Given the description of an element on the screen output the (x, y) to click on. 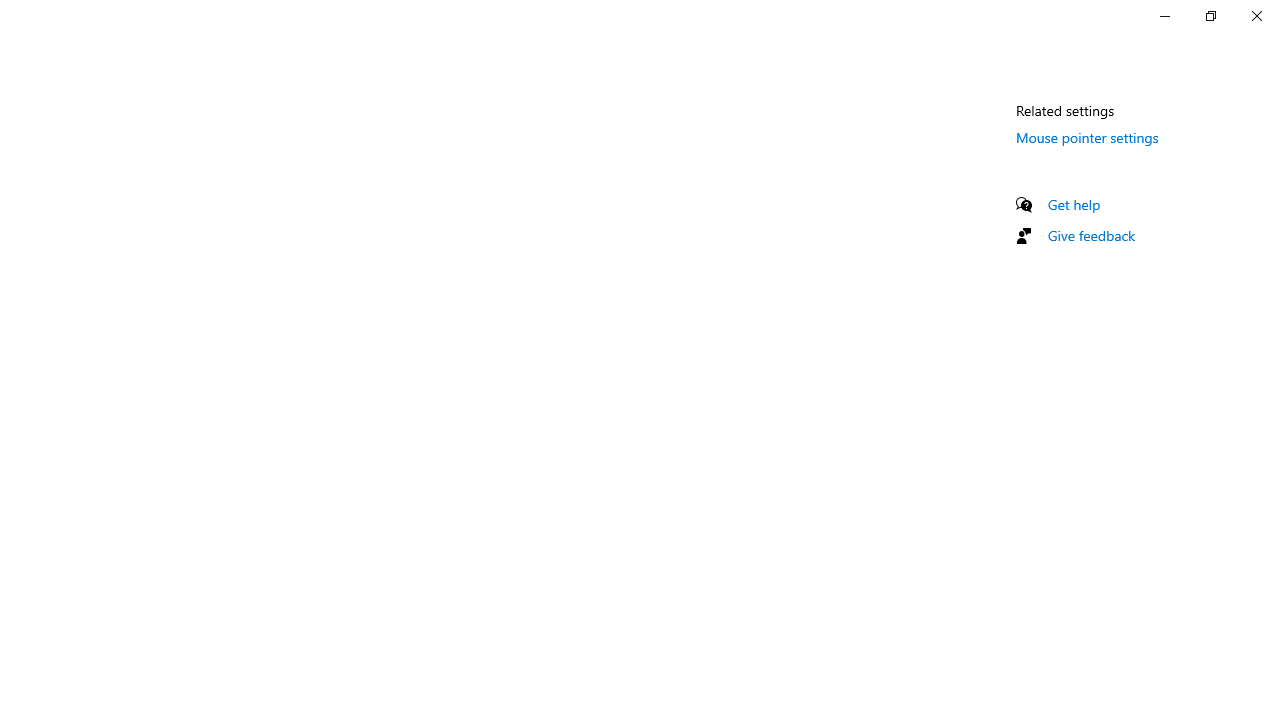
Get help (1074, 204)
Give feedback (1091, 235)
Mouse pointer settings (1087, 137)
